Given the description of an element on the screen output the (x, y) to click on. 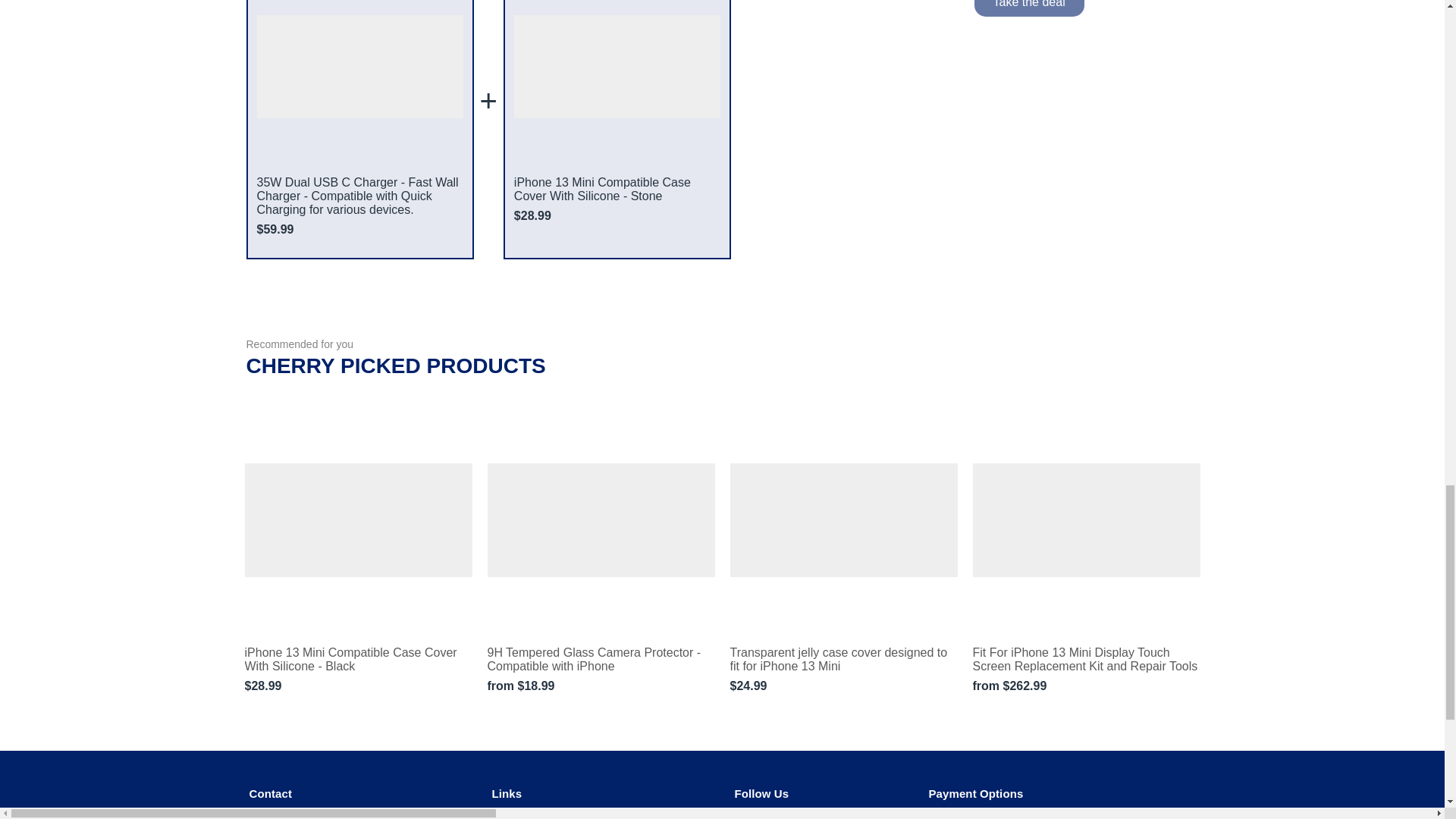
Apple Pay (1007, 815)
WeChat icon (762, 815)
Take the deal (1028, 8)
Afterpay (942, 815)
Google Pay (1101, 815)
American Express (975, 815)
Discover (1070, 815)
Diners Club (1038, 815)
9H Tempered Glass Camera Protector - Compatible with iPhone (600, 659)
iPhone 13 Mini Compatible Case Cover With Silicone - Black (357, 659)
